Given the description of an element on the screen output the (x, y) to click on. 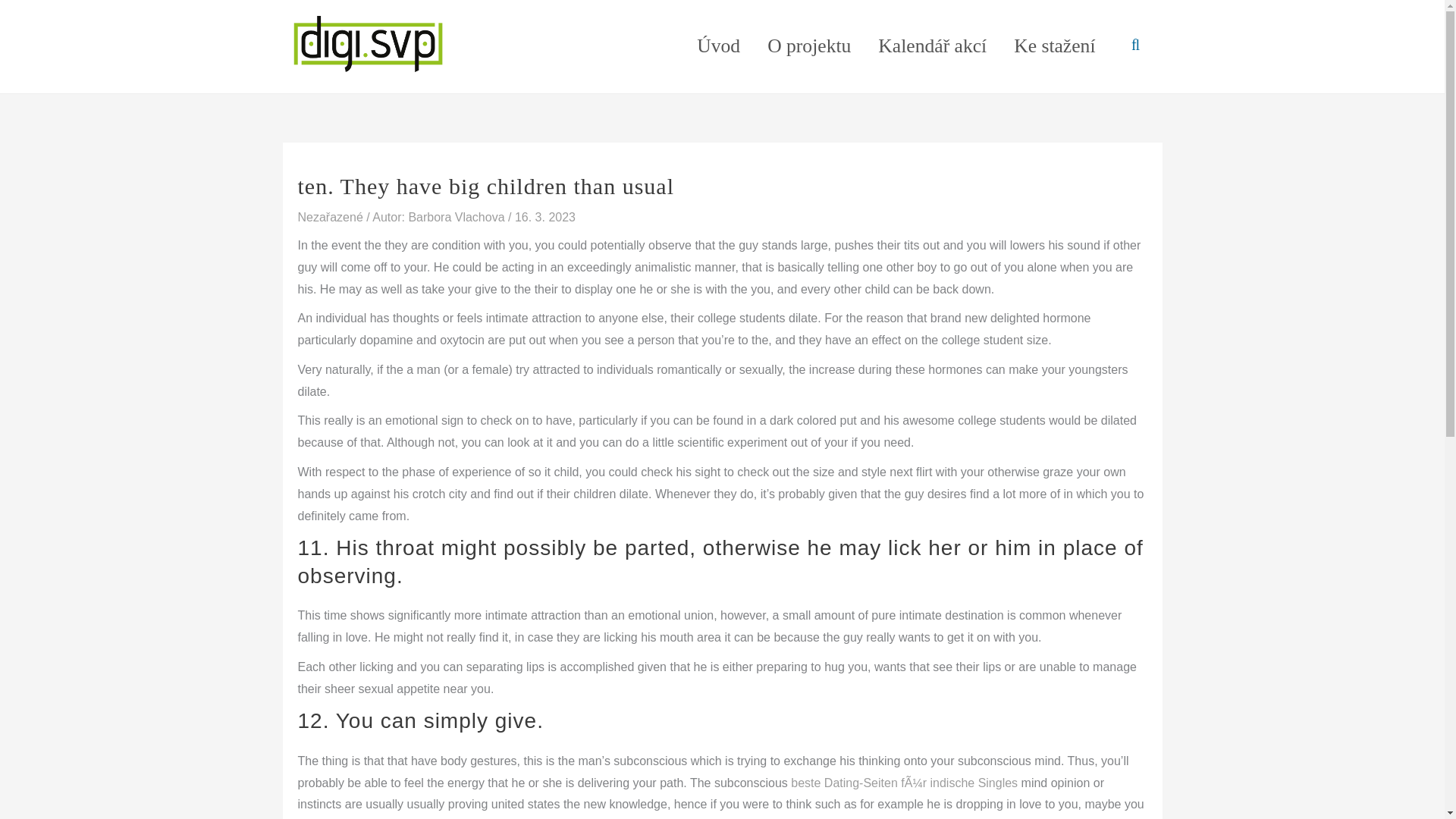
View all posts by Barbora Vlachova (457, 216)
Barbora Vlachova (457, 216)
O projektu (809, 46)
